Given the description of an element on the screen output the (x, y) to click on. 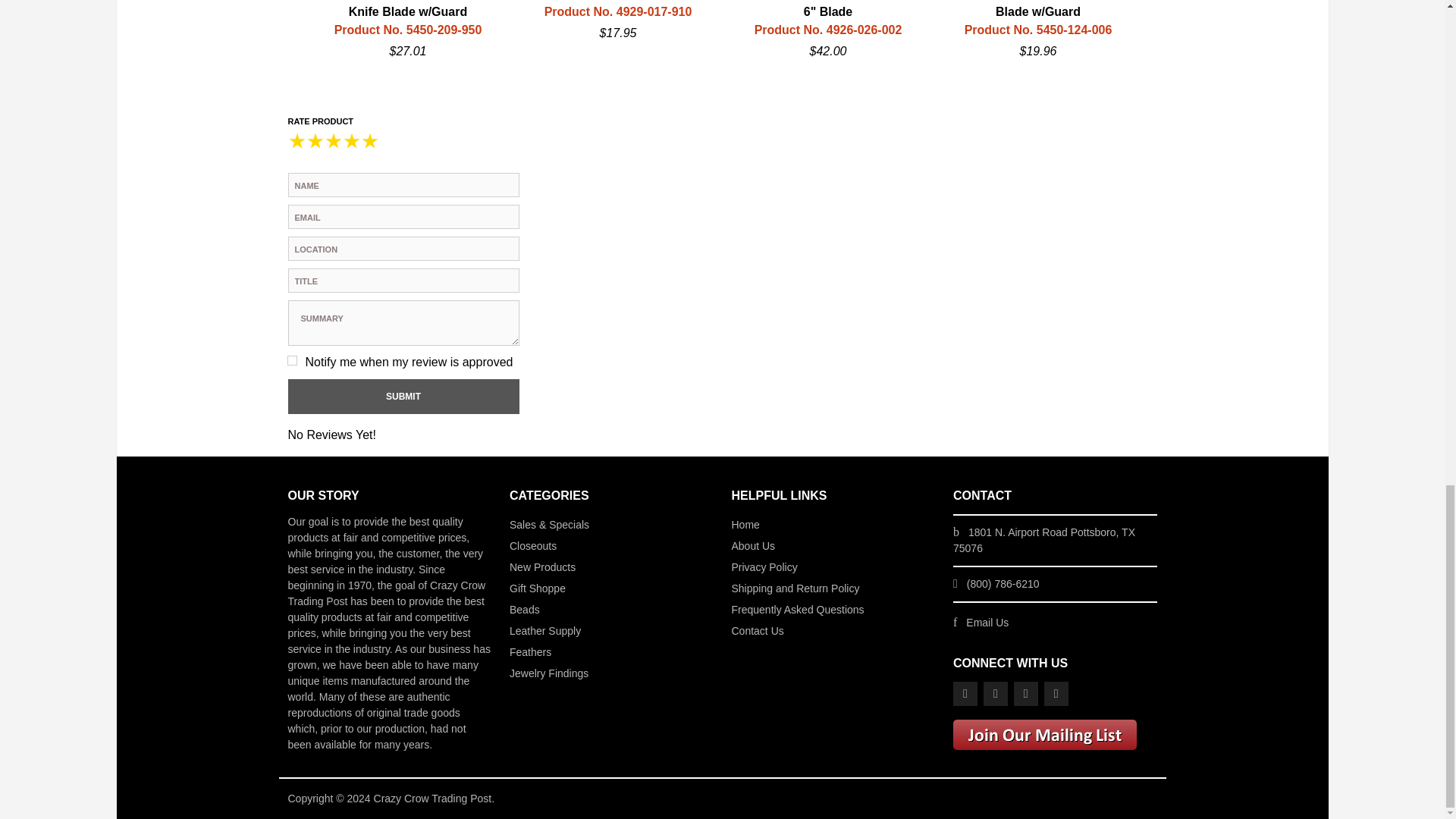
Submit (403, 396)
Rio Grande Camp Knife with Sheath - 10 (197, 30)
